Given the description of an element on the screen output the (x, y) to click on. 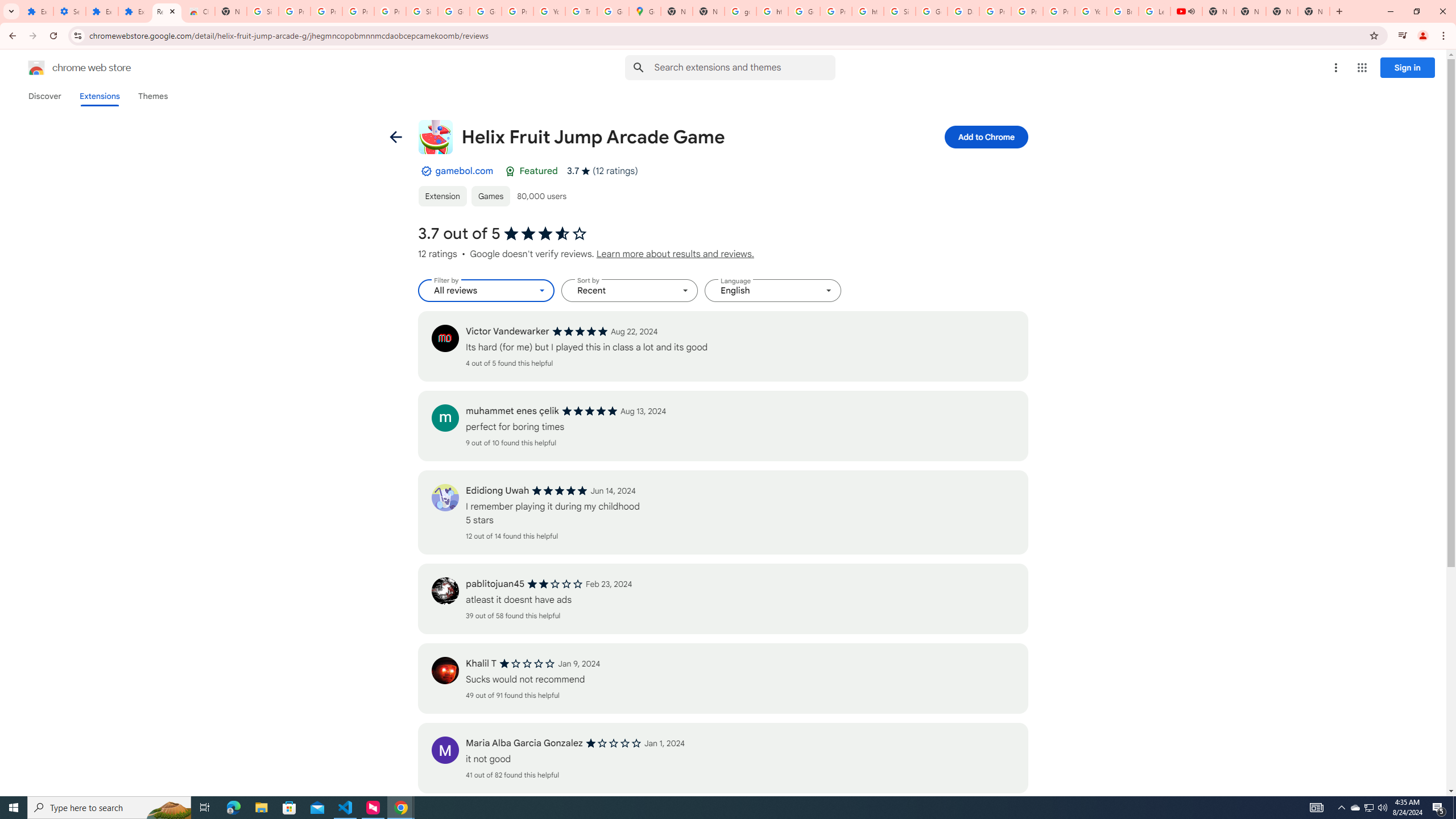
Add to Chrome (985, 136)
Settings (69, 11)
Language English (772, 290)
New Tab (230, 11)
3.7 out of 5 stars (545, 233)
Games (490, 195)
Extensions (99, 95)
gamebol.com (464, 170)
Chrome Web Store logo (36, 67)
https://scholar.google.com/ (868, 11)
Chrome Web Store - Themes (198, 11)
